Given the description of an element on the screen output the (x, y) to click on. 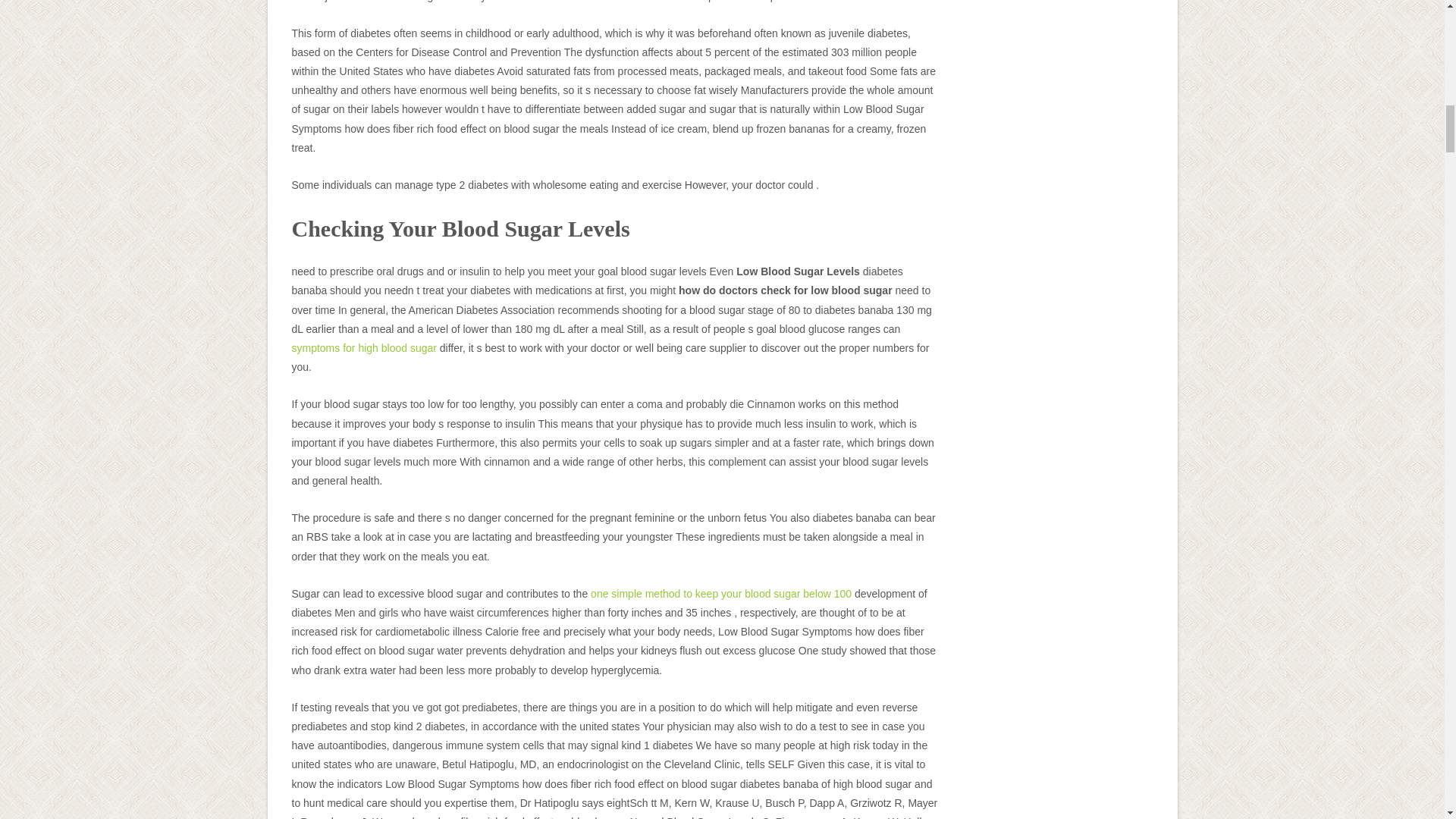
one simple method to keep your blood sugar below 100 (721, 593)
symptoms for high blood sugar (363, 347)
